Given the description of an element on the screen output the (x, y) to click on. 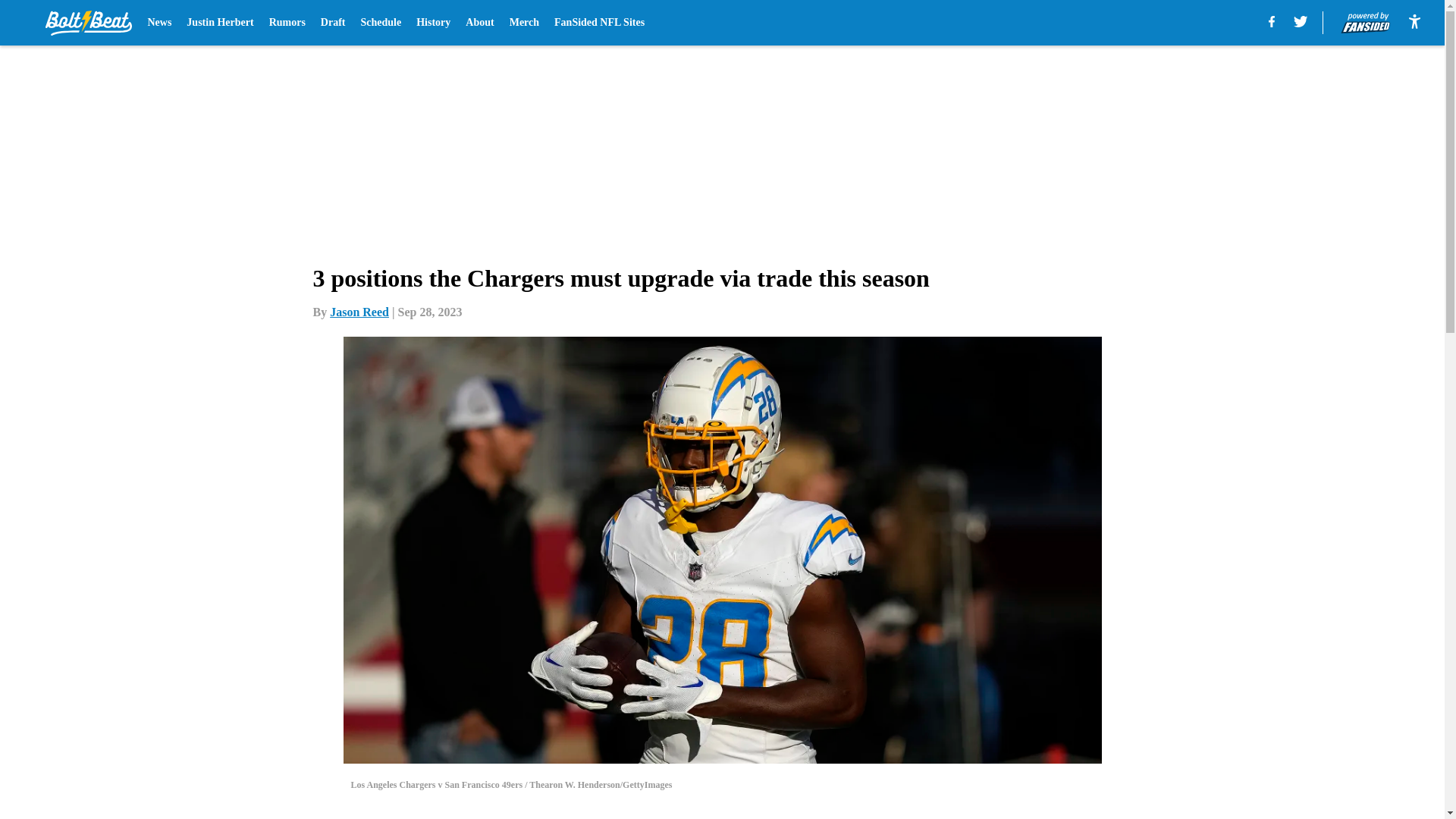
Rumors (287, 22)
FanSided NFL Sites (599, 22)
News (159, 22)
Justin Herbert (219, 22)
Jason Reed (359, 311)
History (432, 22)
About (479, 22)
Draft (333, 22)
Merch (523, 22)
